Given the description of an element on the screen output the (x, y) to click on. 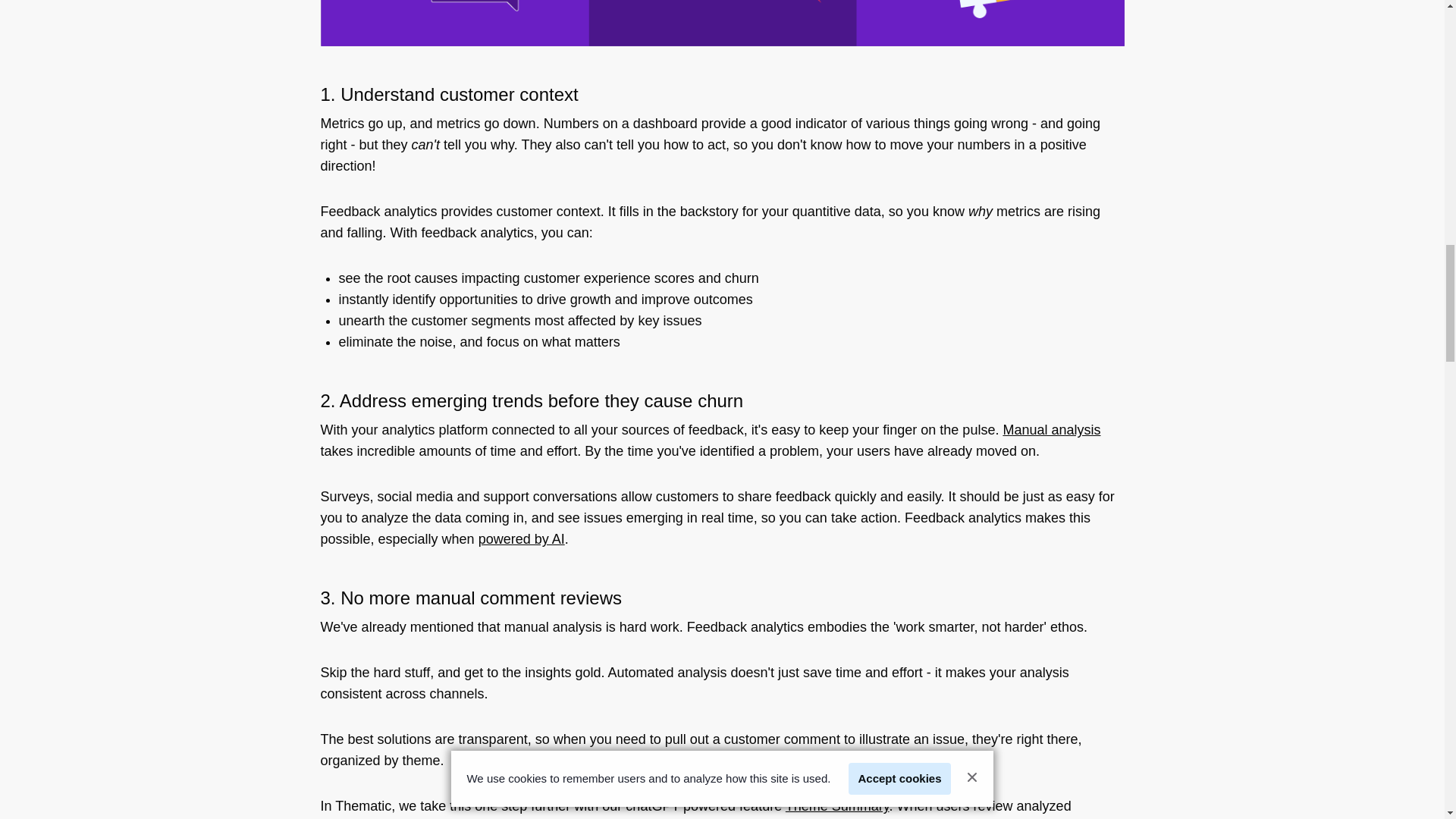
Manual analysis (1051, 429)
powered by AI (521, 539)
Theme Summary (837, 806)
